Given the description of an element on the screen output the (x, y) to click on. 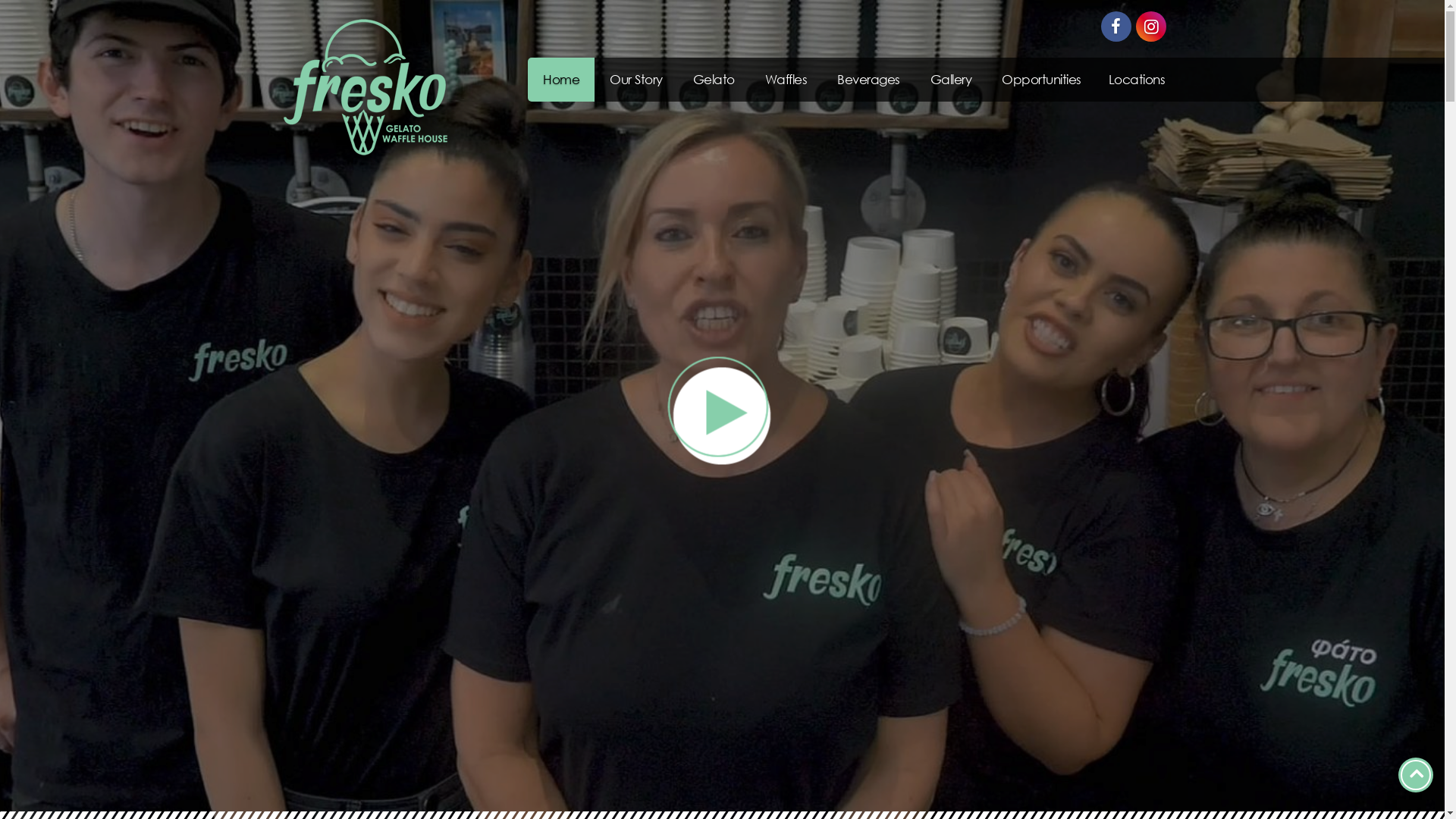
Opportunities Element type: text (1041, 79)
Gallery Element type: text (951, 79)
Beverages Element type: text (868, 79)
video Element type: text (722, 409)
Home Element type: text (560, 79)
Waffles Element type: text (785, 79)
Locations Element type: text (1136, 79)
Gelato Element type: text (713, 79)
Our Story Element type: text (635, 79)
